Given the description of an element on the screen output the (x, y) to click on. 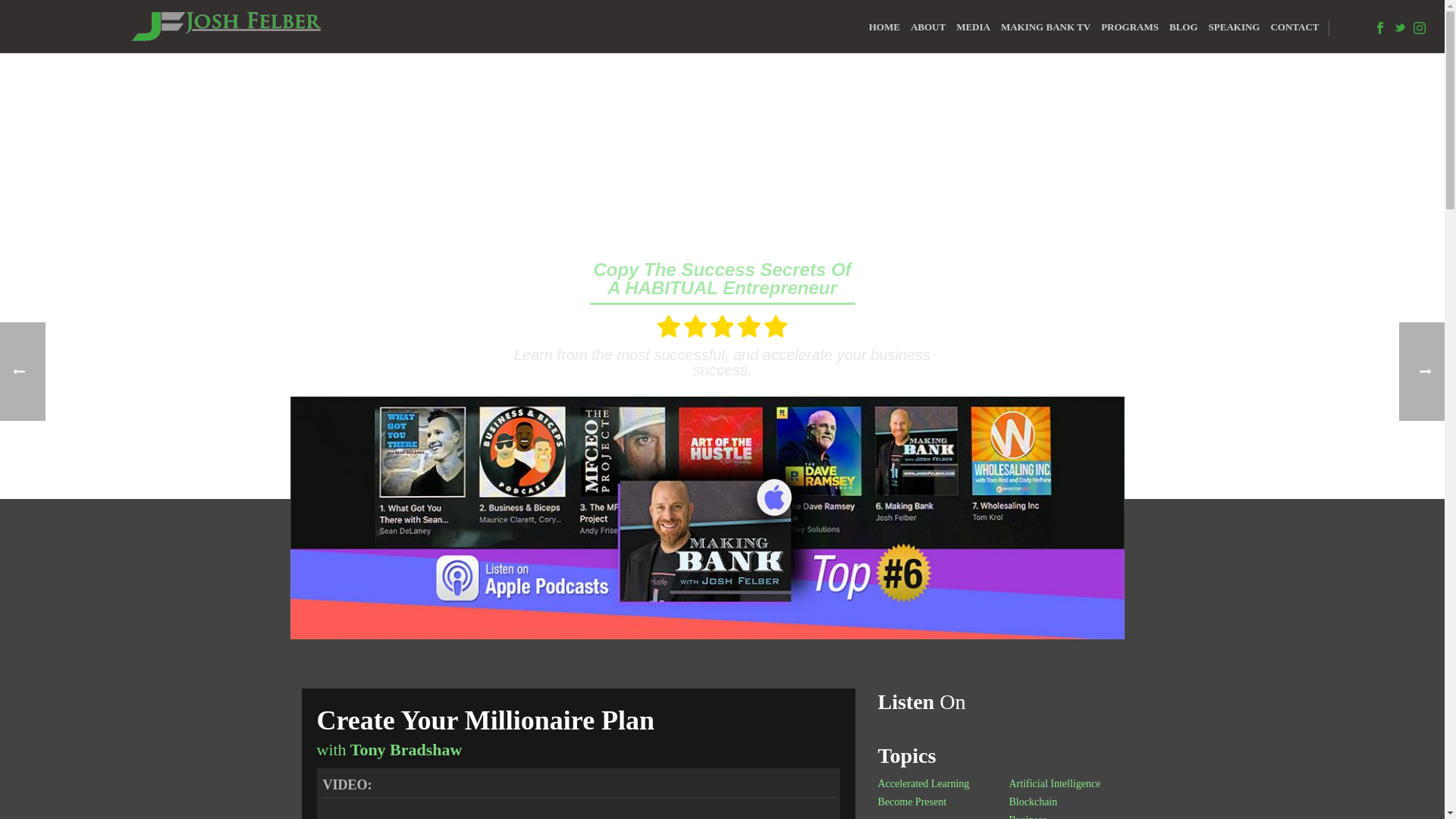
ABOUT (927, 27)
MEDIA (972, 27)
BLOG (1183, 27)
Blockchain (1034, 802)
MAKING BANK TV (1045, 27)
YouTube video player (578, 814)
SPEAKING (1234, 27)
ABOUT (927, 27)
CONTACT (1296, 27)
